Given the description of an element on the screen output the (x, y) to click on. 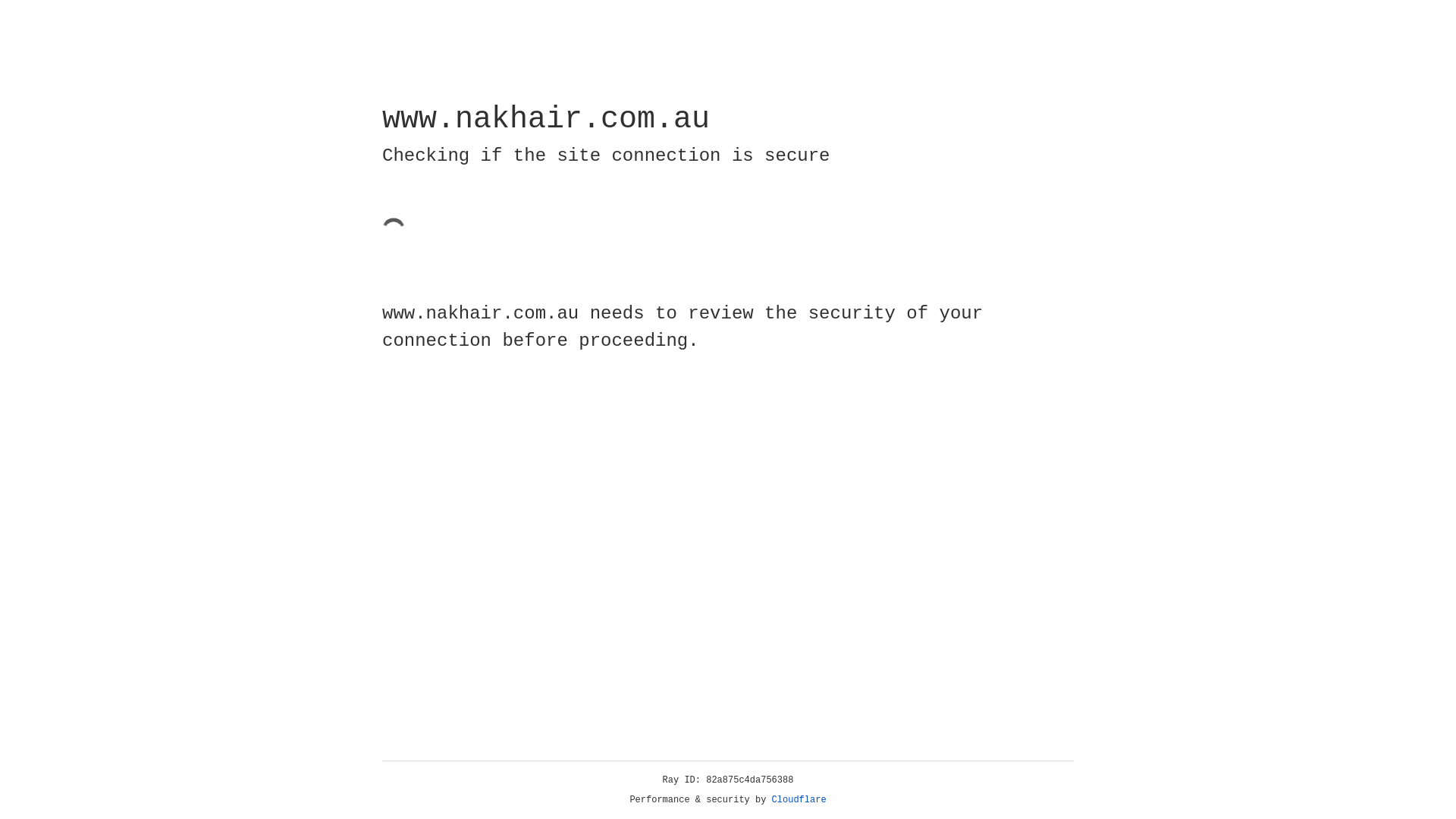
Cloudflare Element type: text (798, 799)
